Given the description of an element on the screen output the (x, y) to click on. 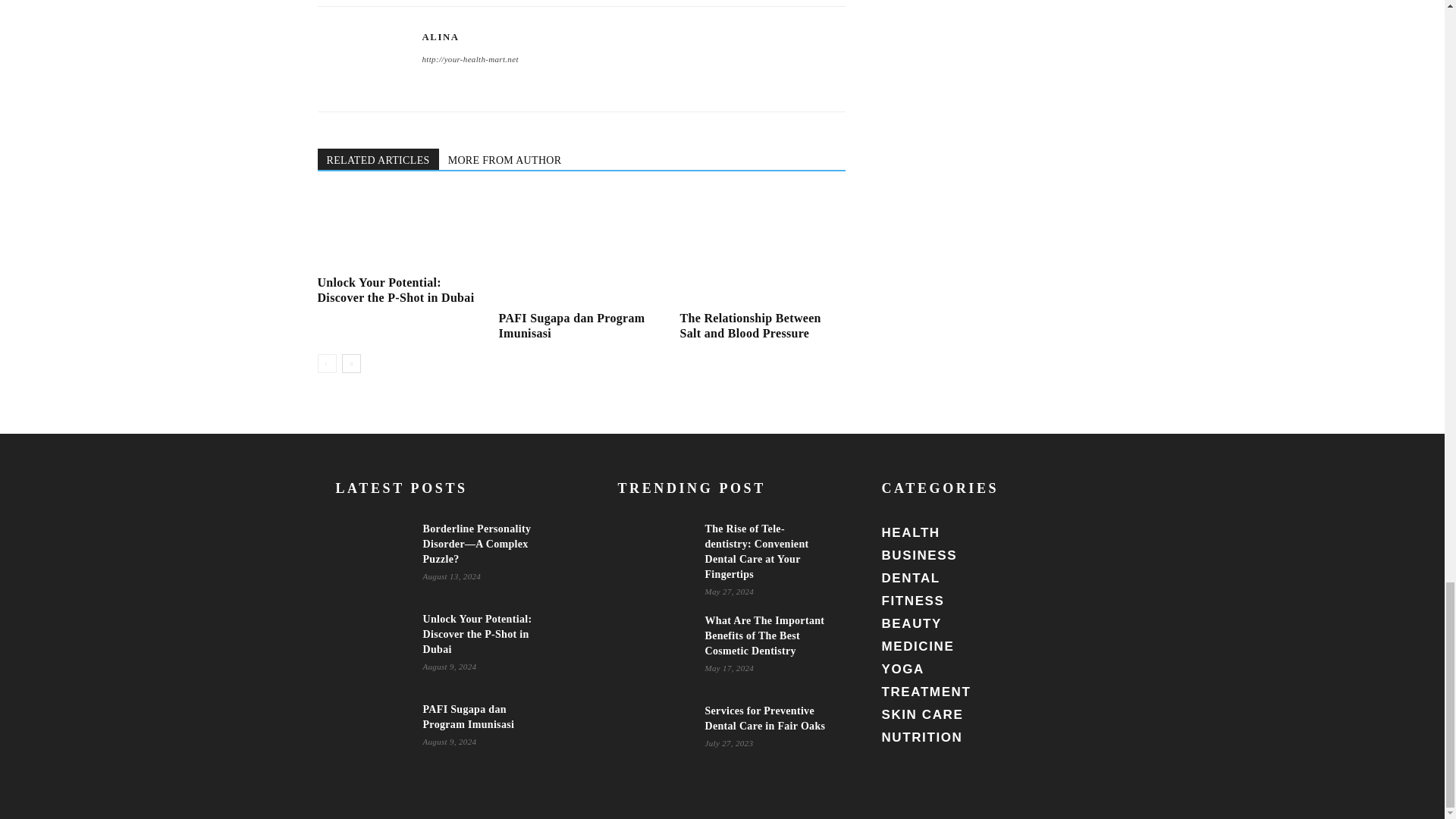
ALINA (440, 36)
RELATED ARTICLES (377, 158)
MORE FROM AUTHOR (504, 158)
The Relationship Between Salt and Blood Pressure (750, 325)
Unlock Your Potential: Discover the P-Shot in Dubai (395, 289)
PAFI Sugapa dan Program Imunisasi (571, 325)
Unlock Your Potential: Discover the P-Shot in Dubai (399, 230)
The Relationship Between Salt and Blood Pressure (761, 248)
PAFI Sugapa dan Program Imunisasi (580, 248)
Unlock Your Potential: Discover the P-Shot in Dubai (395, 289)
